Given the description of an element on the screen output the (x, y) to click on. 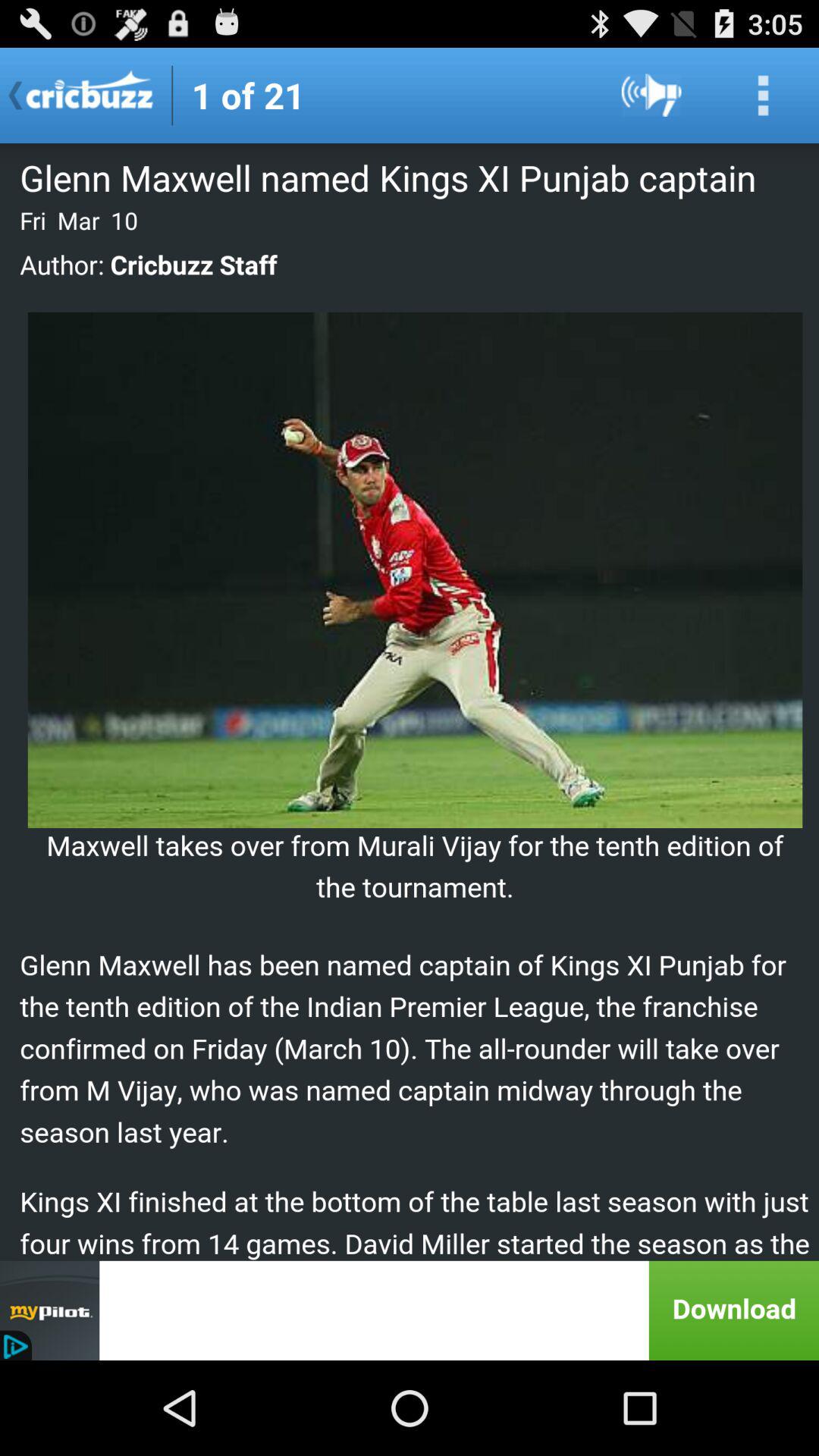
volume (651, 95)
